Given the description of an element on the screen output the (x, y) to click on. 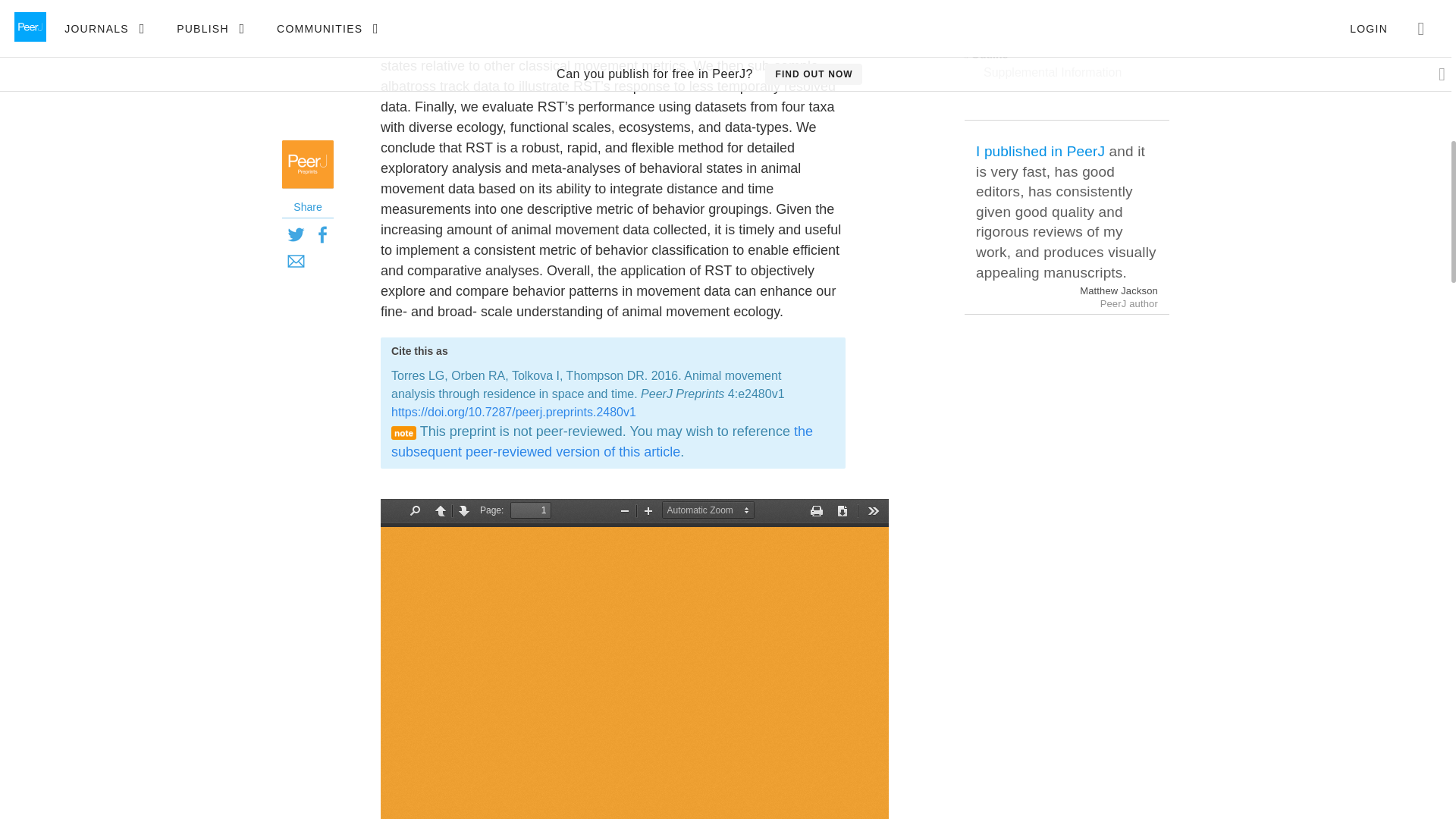
the subsequent peer-reviewed version of this article (601, 441)
